Given the description of an element on the screen output the (x, y) to click on. 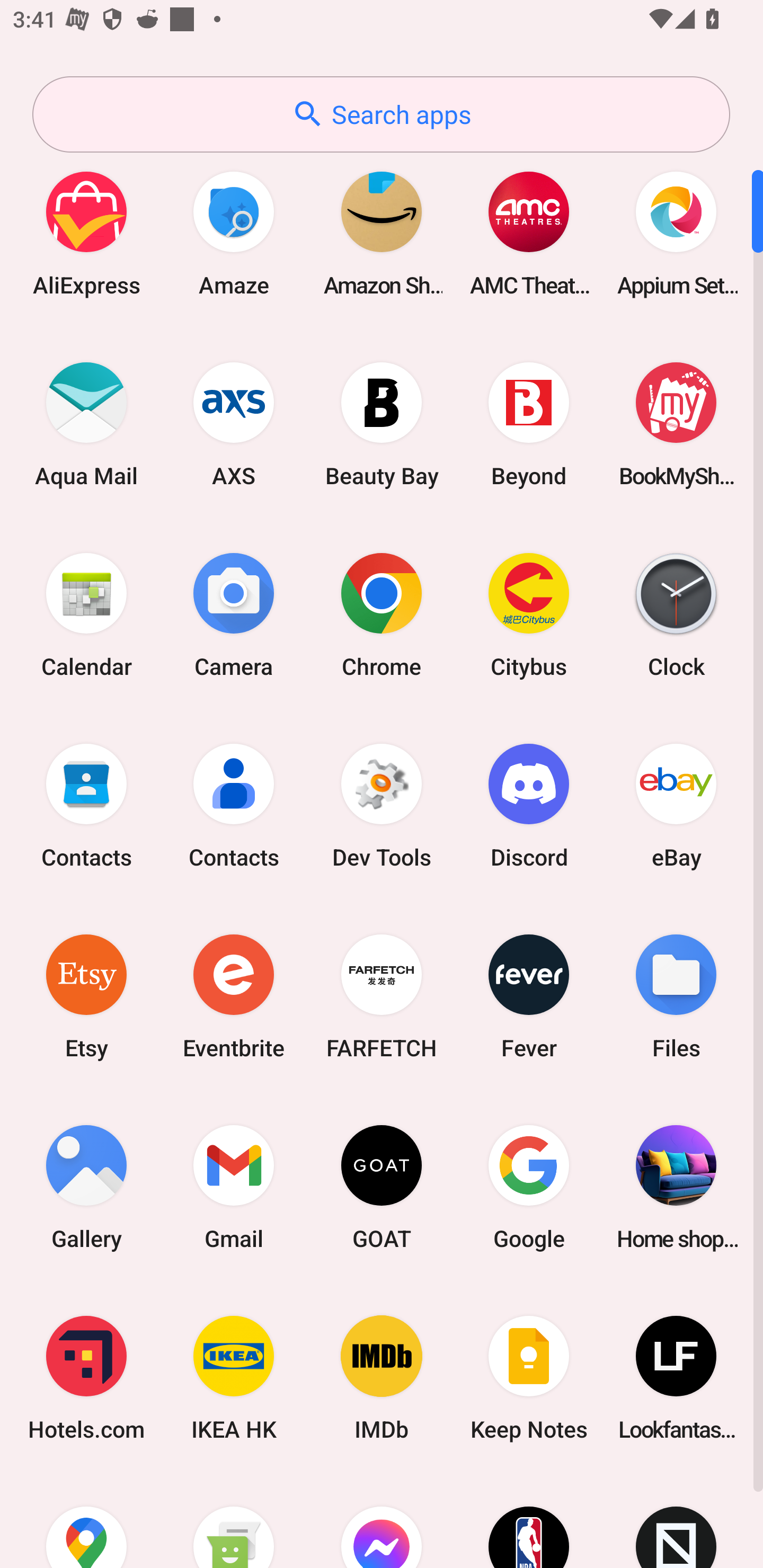
  Search apps (381, 114)
AliExpress (86, 233)
Amaze (233, 233)
Amazon Shopping (381, 233)
AMC Theatres (528, 233)
Appium Settings (676, 233)
Aqua Mail (86, 424)
AXS (233, 424)
Beauty Bay (381, 424)
Beyond (528, 424)
BookMyShow (676, 424)
Calendar (86, 614)
Camera (233, 614)
Chrome (381, 614)
Citybus (528, 614)
Clock (676, 614)
Contacts (86, 805)
Contacts (233, 805)
Dev Tools (381, 805)
Discord (528, 805)
eBay (676, 805)
Etsy (86, 996)
Eventbrite (233, 996)
FARFETCH (381, 996)
Fever (528, 996)
Files (676, 996)
Gallery (86, 1186)
Gmail (233, 1186)
GOAT (381, 1186)
Google (528, 1186)
Home shopping (676, 1186)
Hotels.com (86, 1377)
IKEA HK (233, 1377)
IMDb (381, 1377)
Keep Notes (528, 1377)
Lookfantastic (676, 1377)
Maps (86, 1520)
Messaging (233, 1520)
Messenger (381, 1520)
NBA (528, 1520)
Novelship (676, 1520)
